Given the description of an element on the screen output the (x, y) to click on. 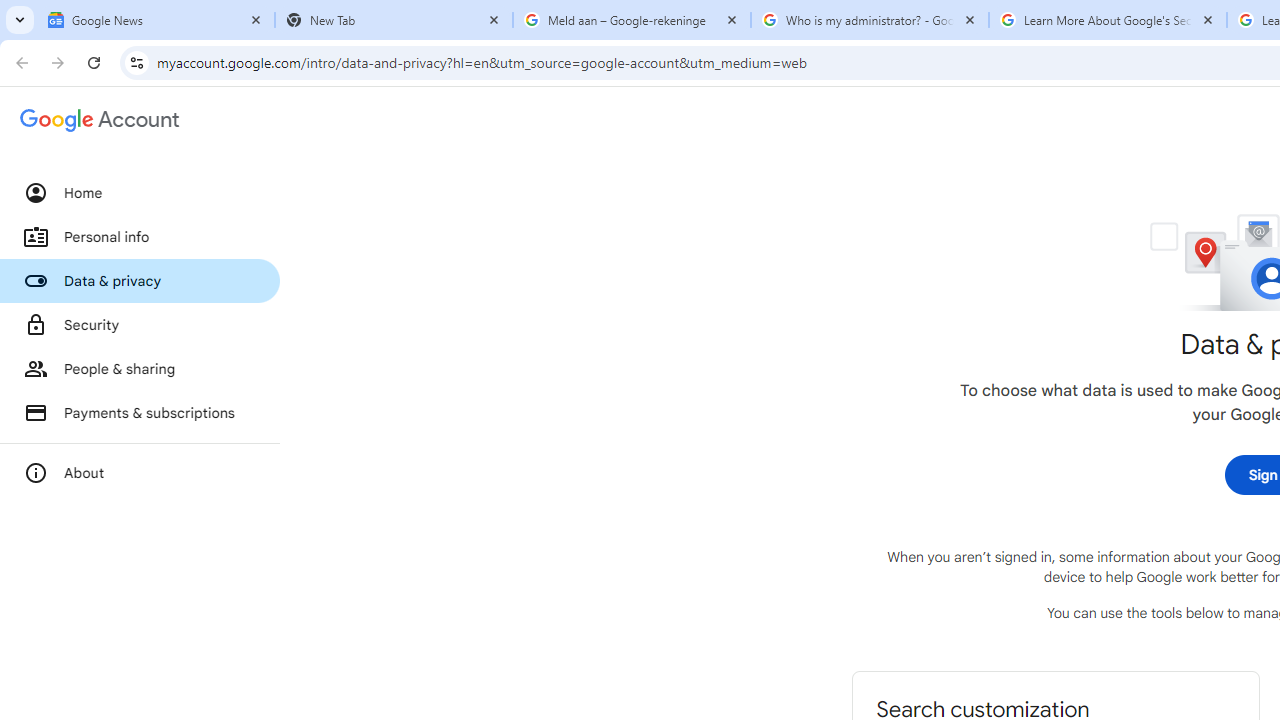
Security (140, 325)
People & sharing (140, 368)
New Tab (394, 20)
Google News (156, 20)
Who is my administrator? - Google Account Help (870, 20)
Personal info (140, 237)
